Given the description of an element on the screen output the (x, y) to click on. 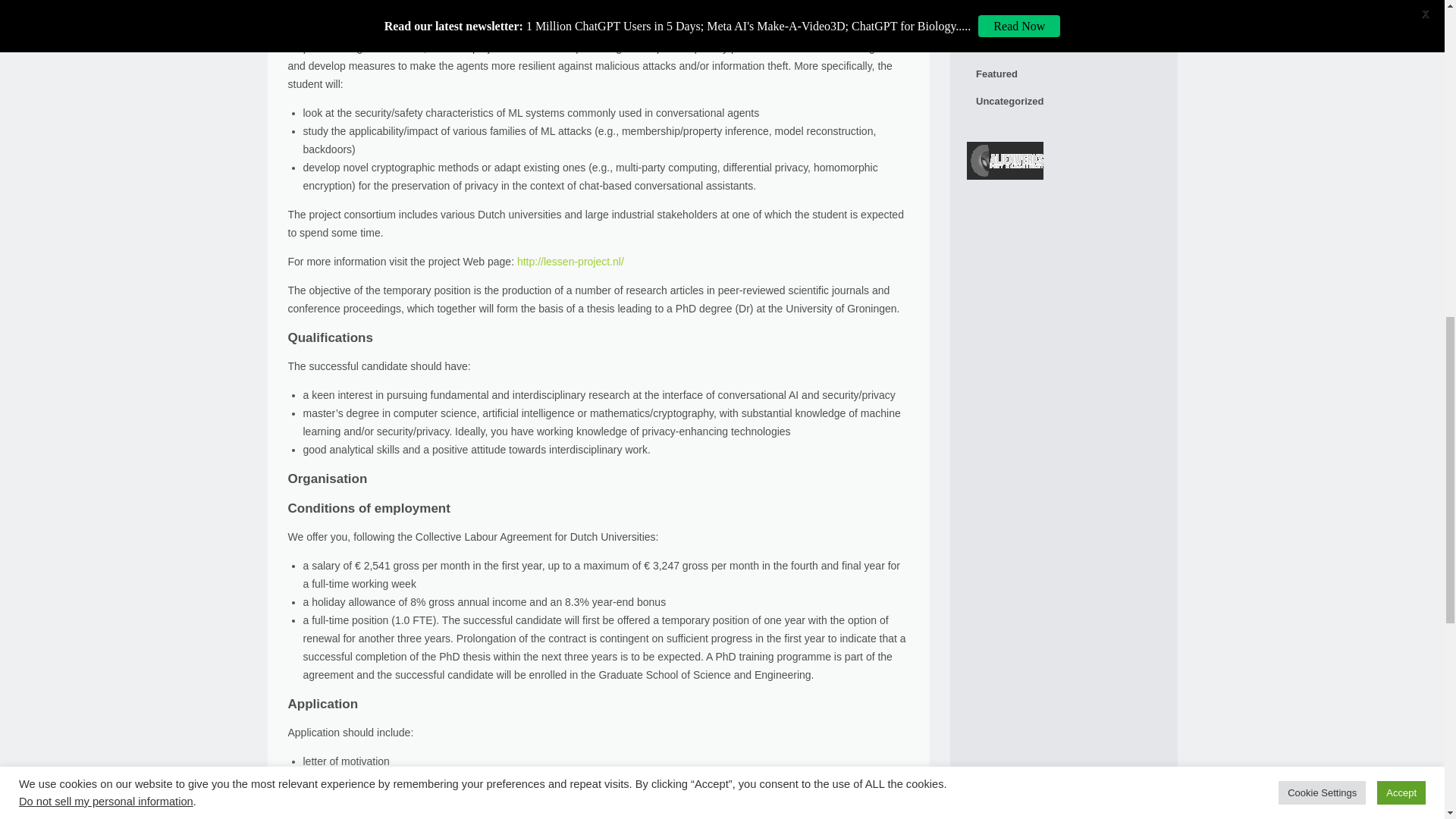
Uncategorized (1063, 101)
Featured (1063, 73)
AlienWerks Pest Management (1004, 163)
AI Career (1063, 19)
AI Skills (1063, 46)
